Given the description of an element on the screen output the (x, y) to click on. 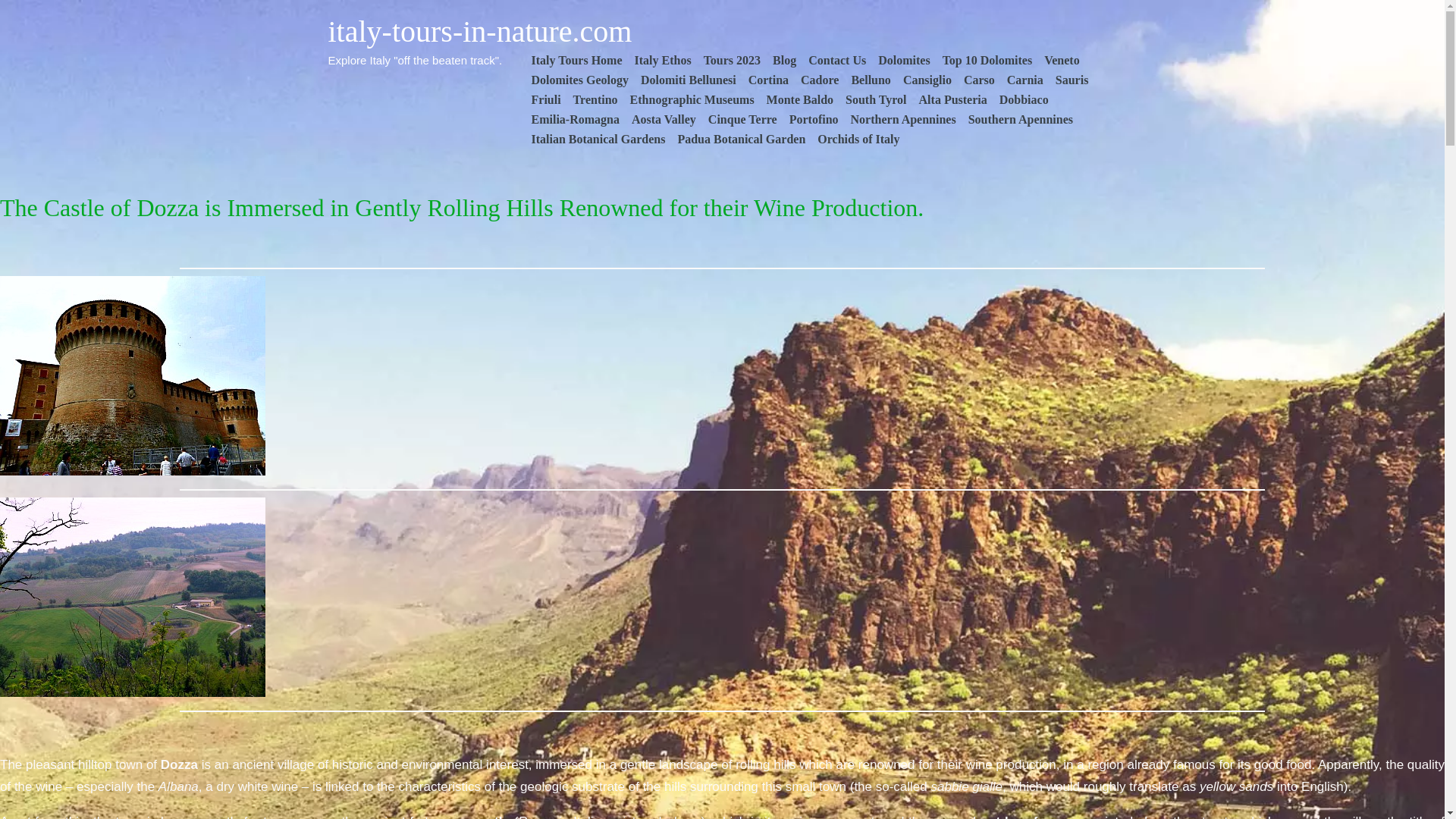
Italian Botanical Gardens (597, 139)
Emilia-Romagna (574, 119)
South Tyrol (876, 99)
Orchids of Italy (857, 139)
Veneto (1062, 60)
Italy Ethos (662, 60)
Cadore (819, 80)
italy-tours-in-nature.com (479, 31)
Padua Botanical Garden (740, 139)
Friuli (545, 99)
